Given the description of an element on the screen output the (x, y) to click on. 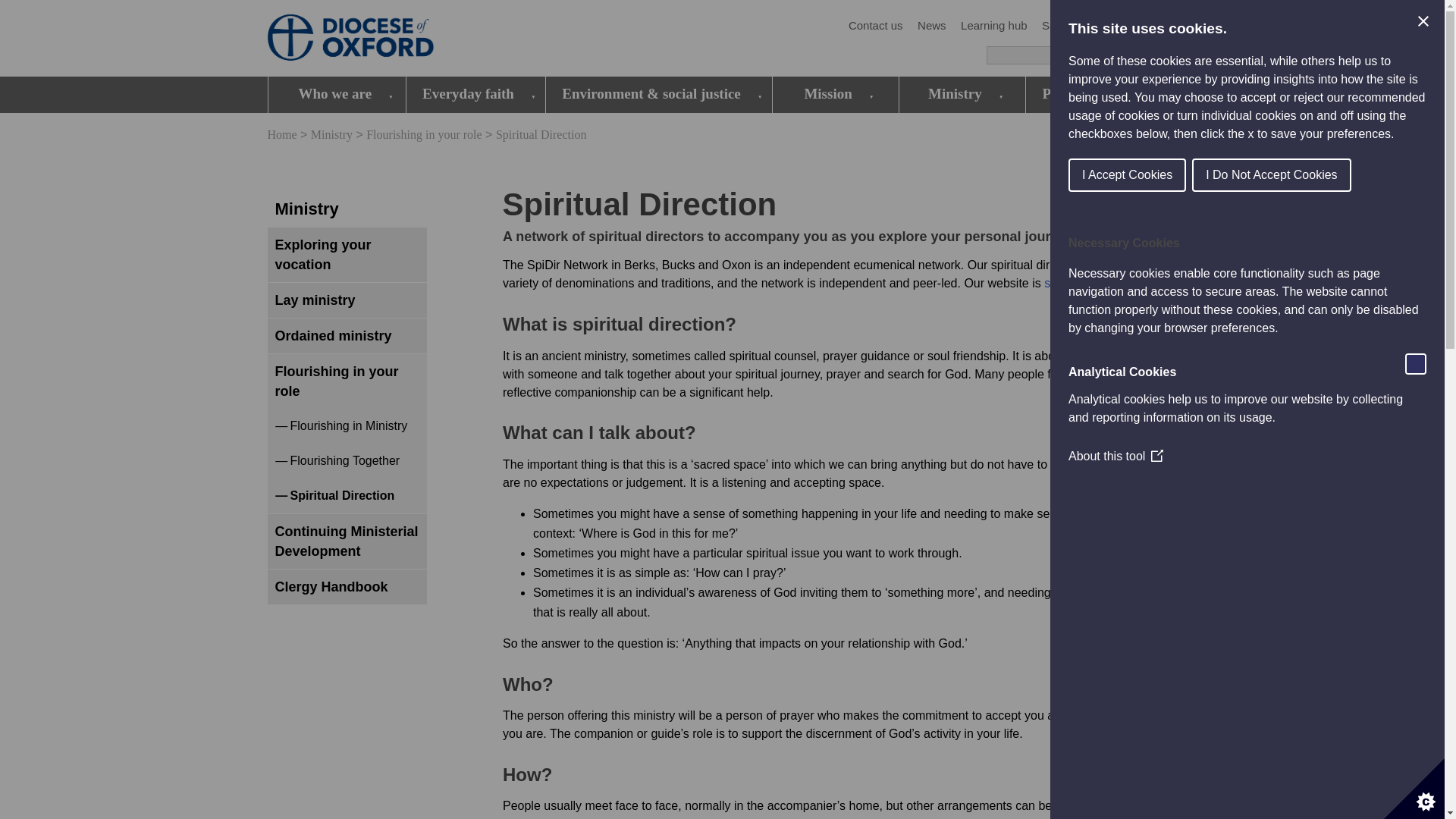
News (931, 25)
Diocese of Oxford Logo (376, 39)
Contact us (875, 25)
Safeguarding (1075, 25)
Learning hub (993, 25)
Education (1149, 25)
